Given the description of an element on the screen output the (x, y) to click on. 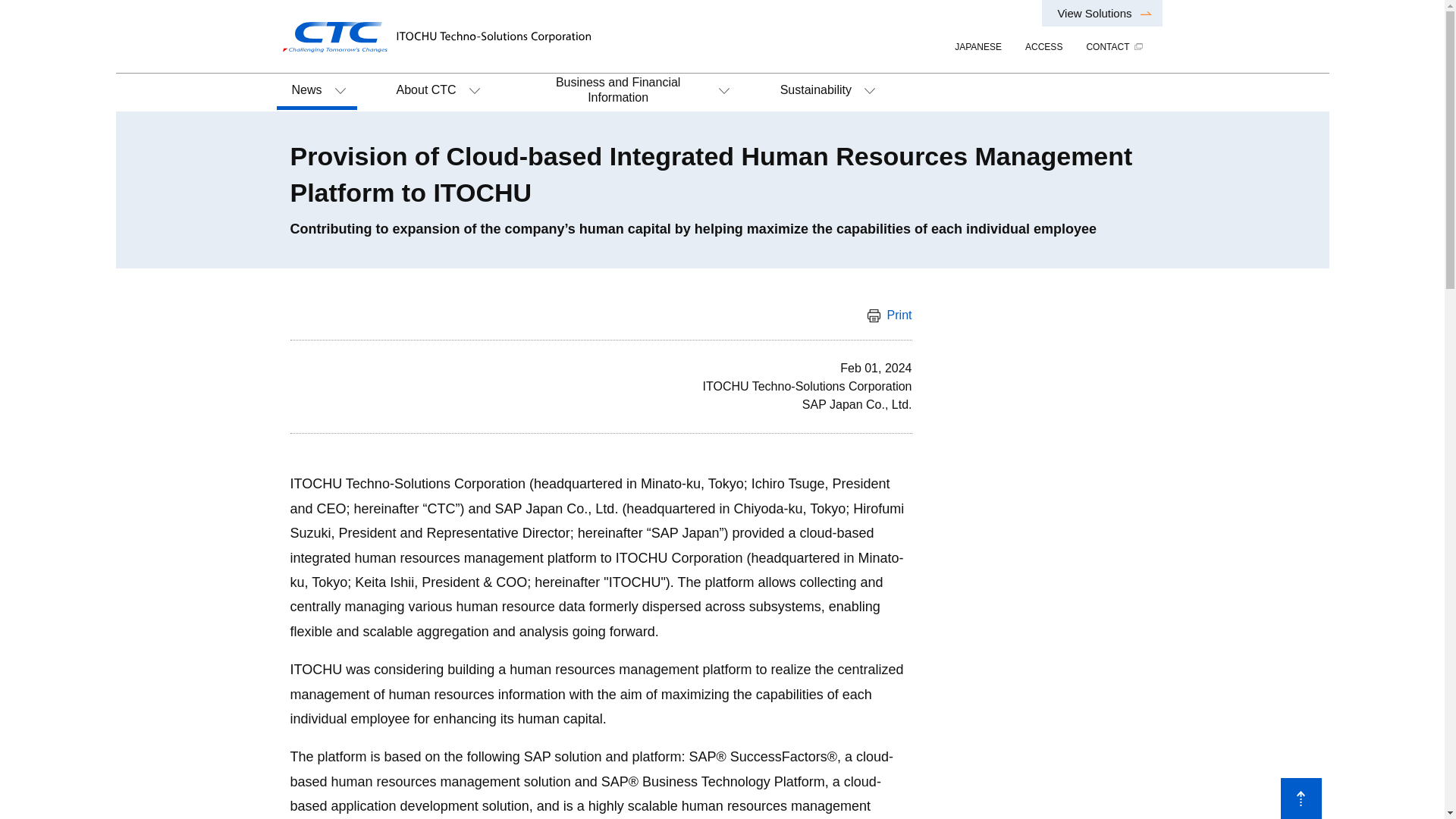
View Solutions (1101, 13)
About CTC (436, 92)
News (316, 92)
Business and Financial Information (628, 92)
JAPANESE (972, 47)
CONTACT (1110, 47)
Sustainability (825, 92)
ACCESS (1037, 47)
